Given the description of an element on the screen output the (x, y) to click on. 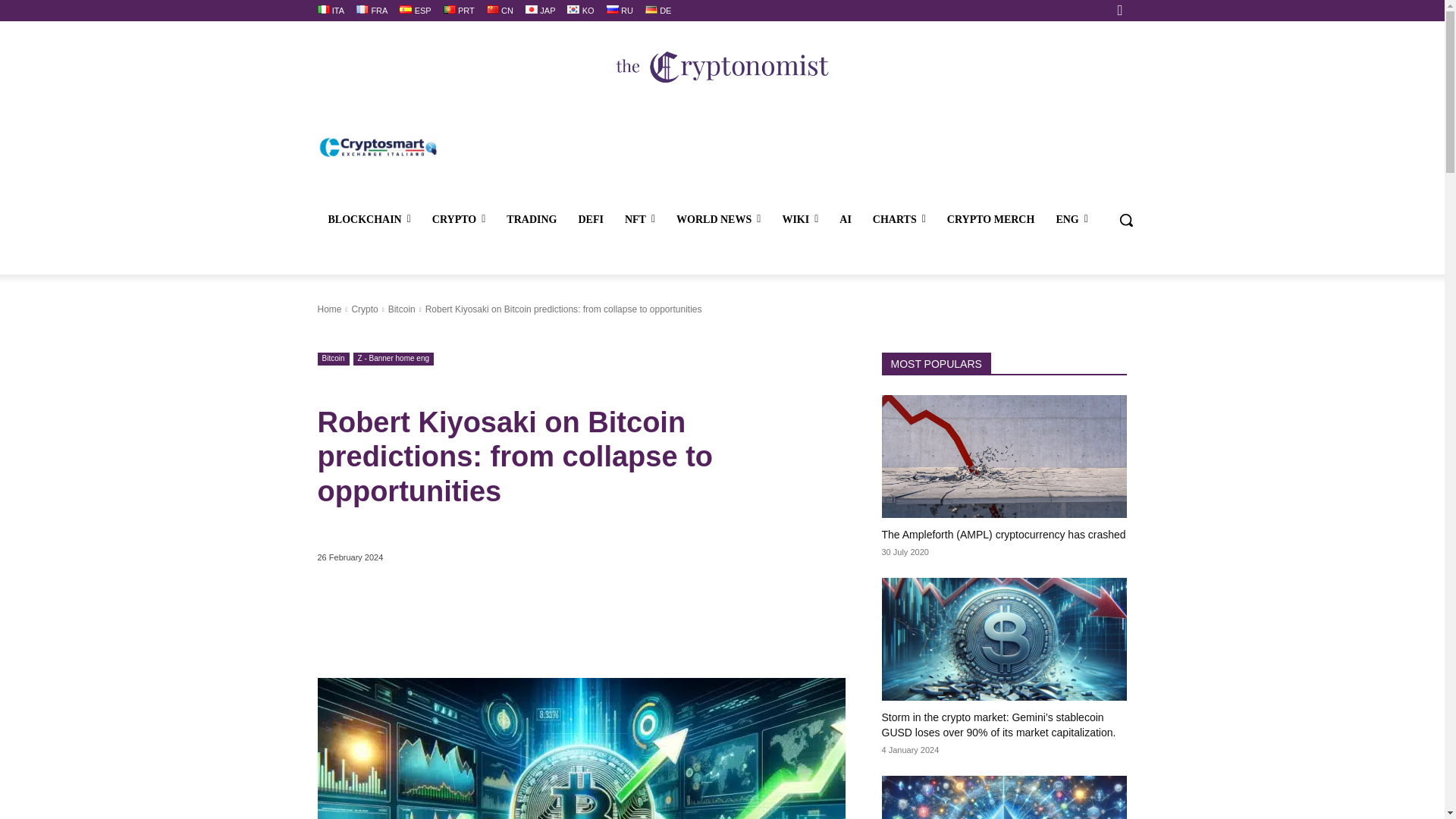
previsioni bitcoin Kiyosaki (580, 748)
View all posts in Crypto (363, 308)
View all posts in Bitcoin (401, 308)
